Given the description of an element on the screen output the (x, y) to click on. 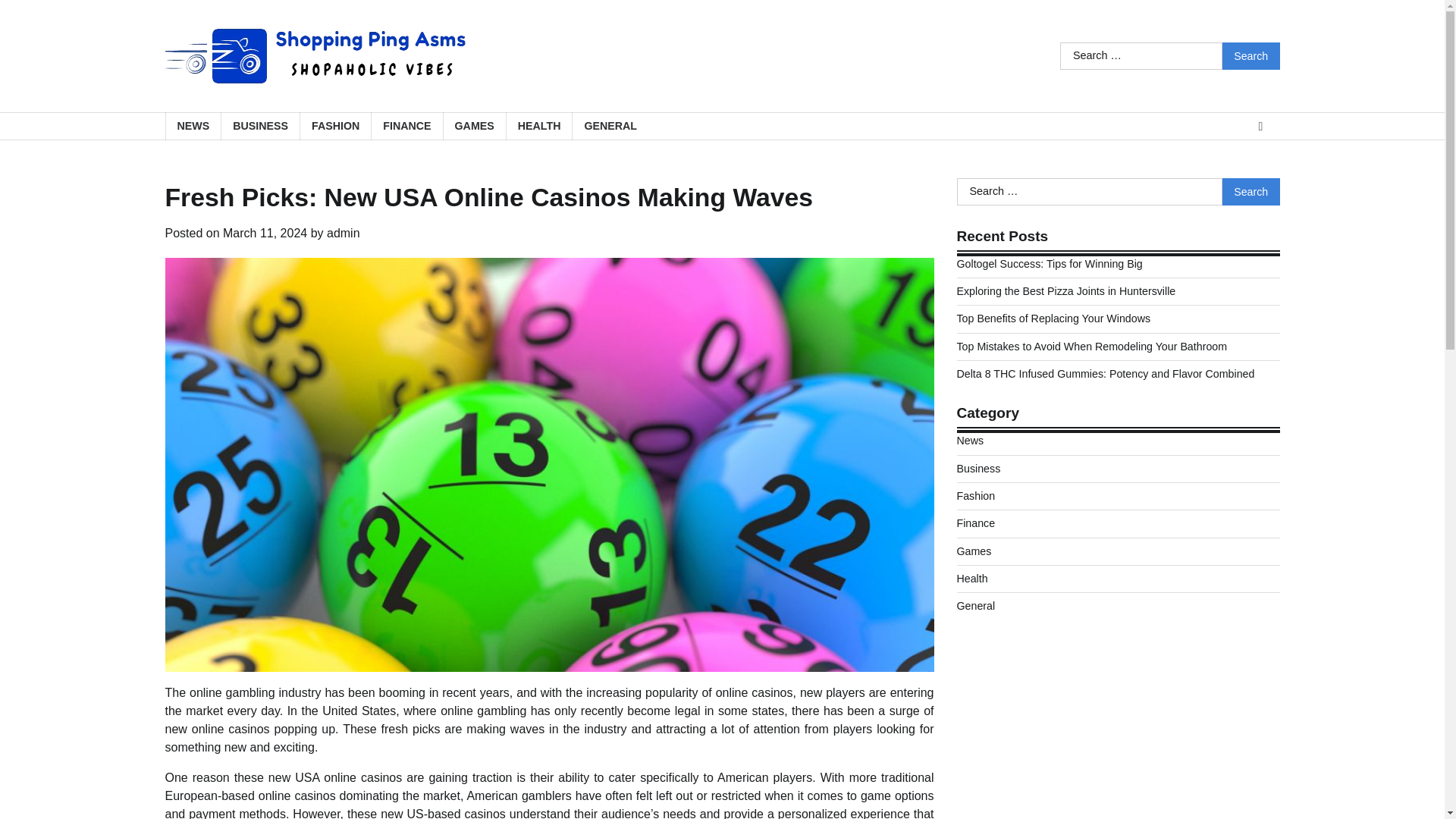
Delta 8 THC Infused Gummies: Potency and Flavor Combined (1105, 373)
Search (1251, 191)
Top Mistakes to Avoid When Remodeling Your Bathroom (1091, 346)
Search (1251, 55)
GAMES (473, 126)
GENERAL (609, 126)
NEWS (193, 126)
FASHION (335, 126)
FINANCE (406, 126)
BUSINESS (260, 126)
Top Benefits of Replacing Your Windows (1053, 318)
Fashion (975, 495)
Exploring the Best Pizza Joints in Huntersville (1066, 291)
March 11, 2024 (264, 232)
View Random Post (1260, 126)
